Given the description of an element on the screen output the (x, y) to click on. 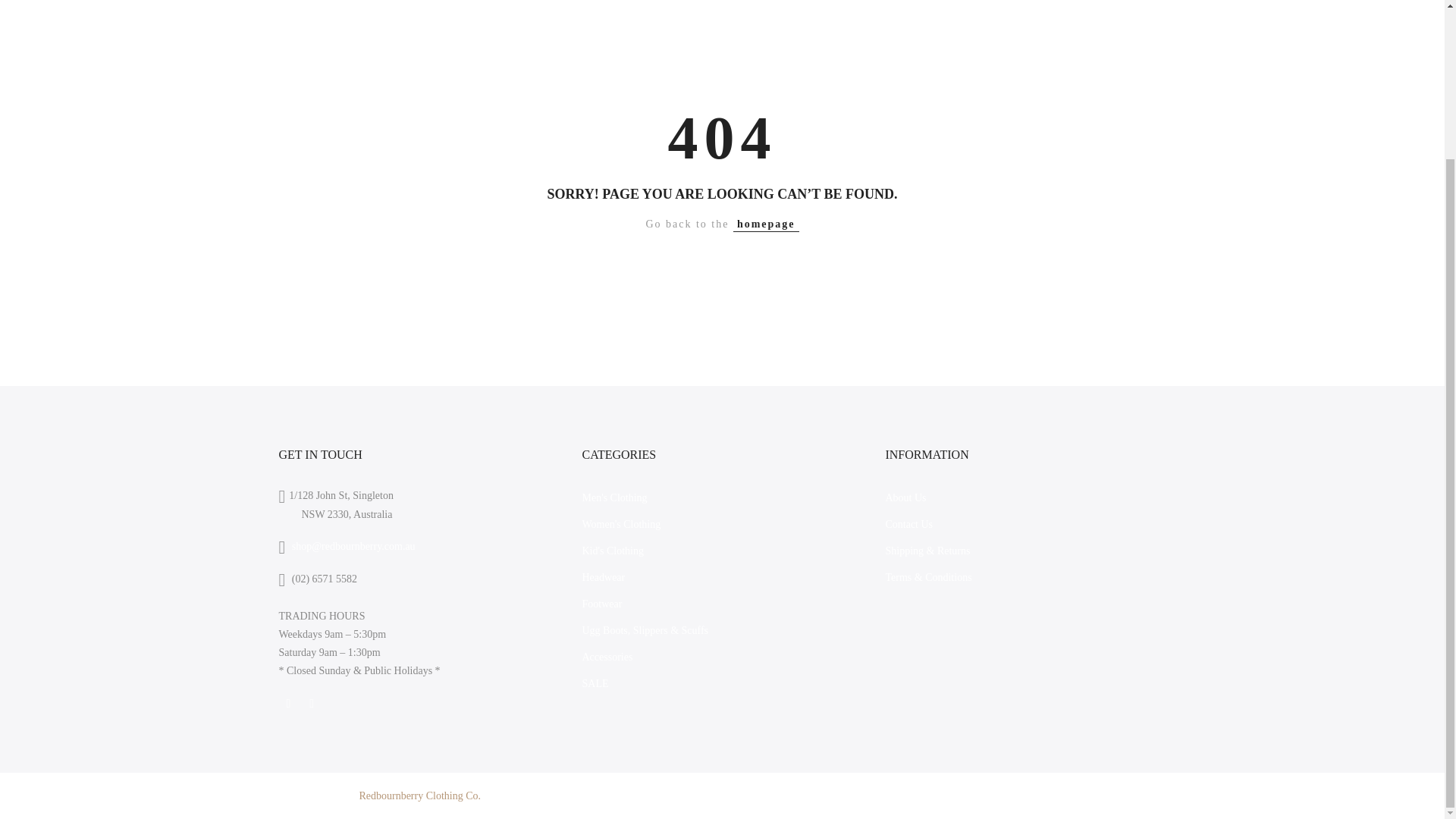
SALE (594, 683)
Contact Us (909, 523)
About Us (905, 497)
Webninja (599, 795)
Footwear (600, 603)
Kid's Clothing (611, 550)
homepage (766, 224)
Search (1151, 795)
Accessories (605, 656)
Women's Clothing (620, 523)
Men's Clothing (613, 497)
Headwear (602, 577)
